Given the description of an element on the screen output the (x, y) to click on. 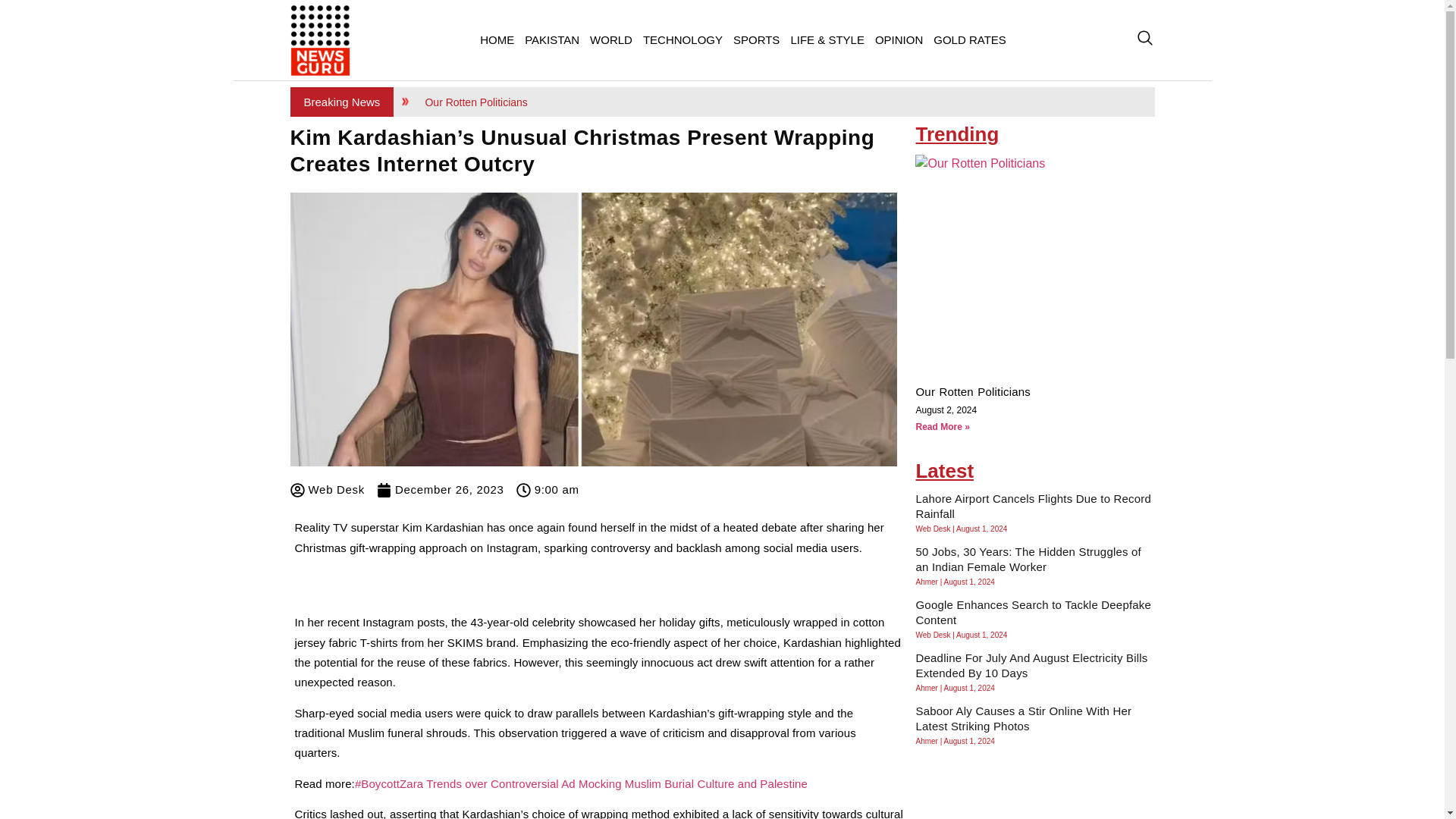
WORLD (611, 39)
HOME (496, 39)
TECHNOLOGY (682, 39)
OPINION (898, 39)
GOLD RATES (969, 39)
SPORTS (756, 39)
PAKISTAN (552, 39)
